Given the description of an element on the screen output the (x, y) to click on. 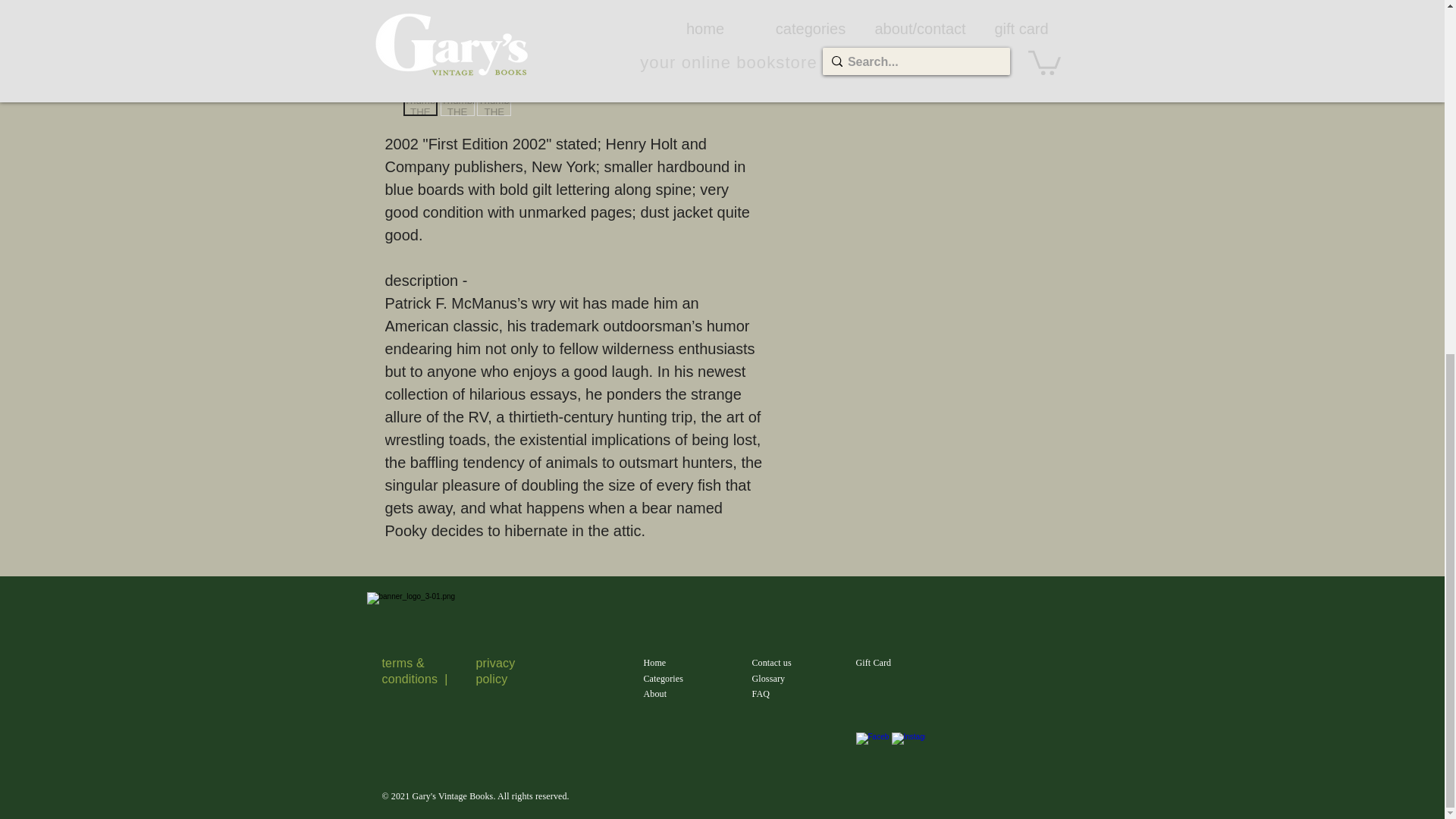
FAQ (761, 693)
Home (654, 662)
About (654, 693)
Categories (662, 678)
Contact us (772, 662)
privacy policy (495, 670)
Glossary (769, 678)
Gift Card (873, 662)
